Given the description of an element on the screen output the (x, y) to click on. 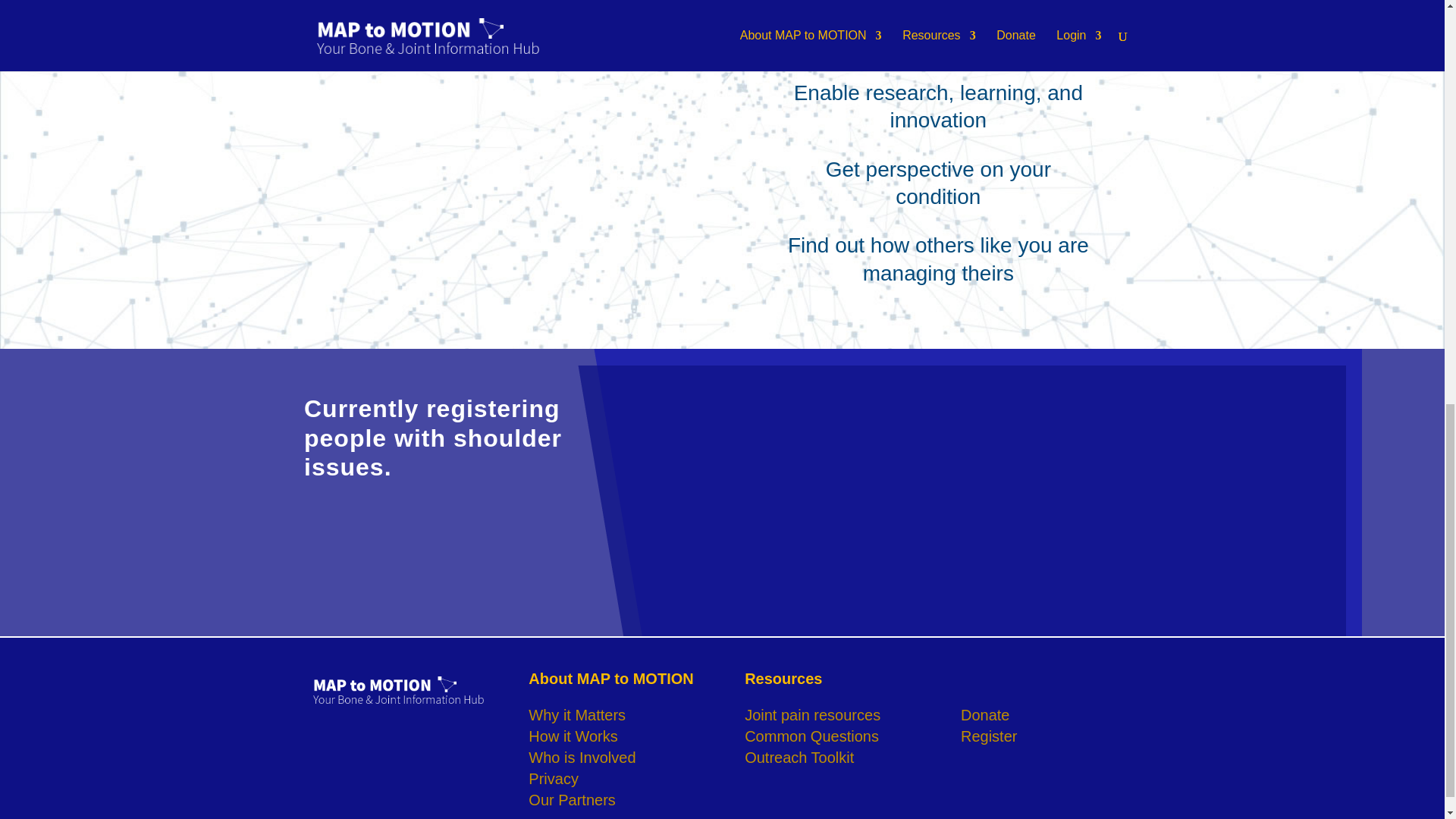
How it Works (572, 736)
Common Questions (811, 736)
Register (988, 736)
Who is Involved (581, 757)
Why it Matters (577, 714)
Joint pain resources (812, 714)
Donate (985, 714)
Our Partners (571, 799)
Outreach Toolkit (798, 757)
Privacy (553, 778)
